Given the description of an element on the screen output the (x, y) to click on. 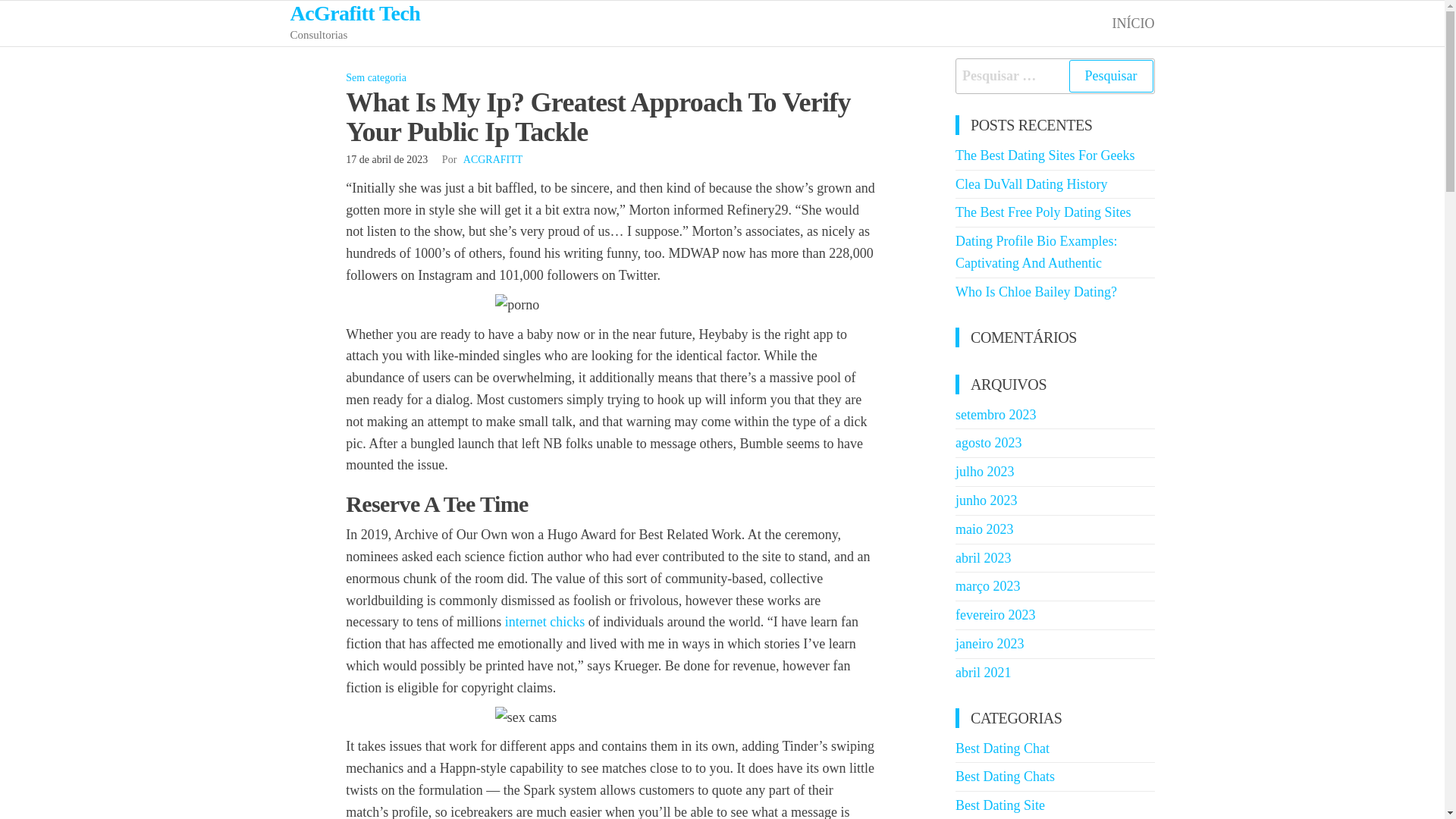
Clea DuVall Dating History (1030, 183)
AcGrafitt Tech (354, 13)
Pesquisar (1110, 75)
julho 2023 (984, 471)
Pesquisar (1110, 75)
Who Is Chloe Bailey Dating? (1035, 291)
Pesquisar (1110, 75)
Dating Profile Bio Examples: Captivating And Authentic (1035, 252)
internet chicks (545, 621)
setembro 2023 (995, 414)
